Given the description of an element on the screen output the (x, y) to click on. 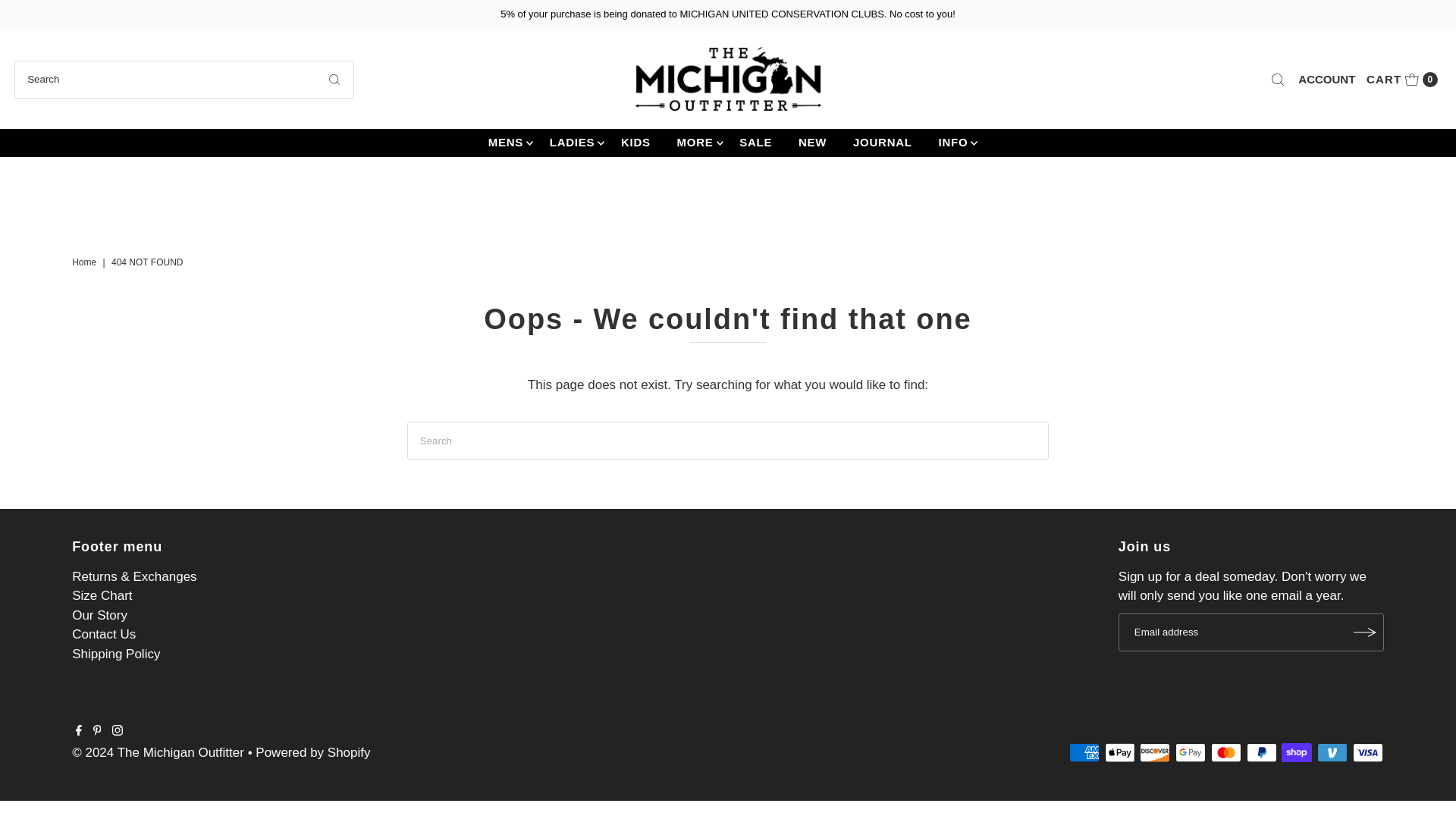
Venmo (1332, 752)
Shop Pay (1296, 752)
Discover (1155, 752)
LADIES (572, 141)
Home (85, 262)
Mastercard (1226, 752)
PayPal (1261, 752)
KIDS (636, 141)
MENS (505, 141)
ACCOUNT (1401, 79)
Google Pay (1326, 79)
MORE (1189, 752)
Visa (695, 141)
Apple Pay (1367, 752)
